Given the description of an element on the screen output the (x, y) to click on. 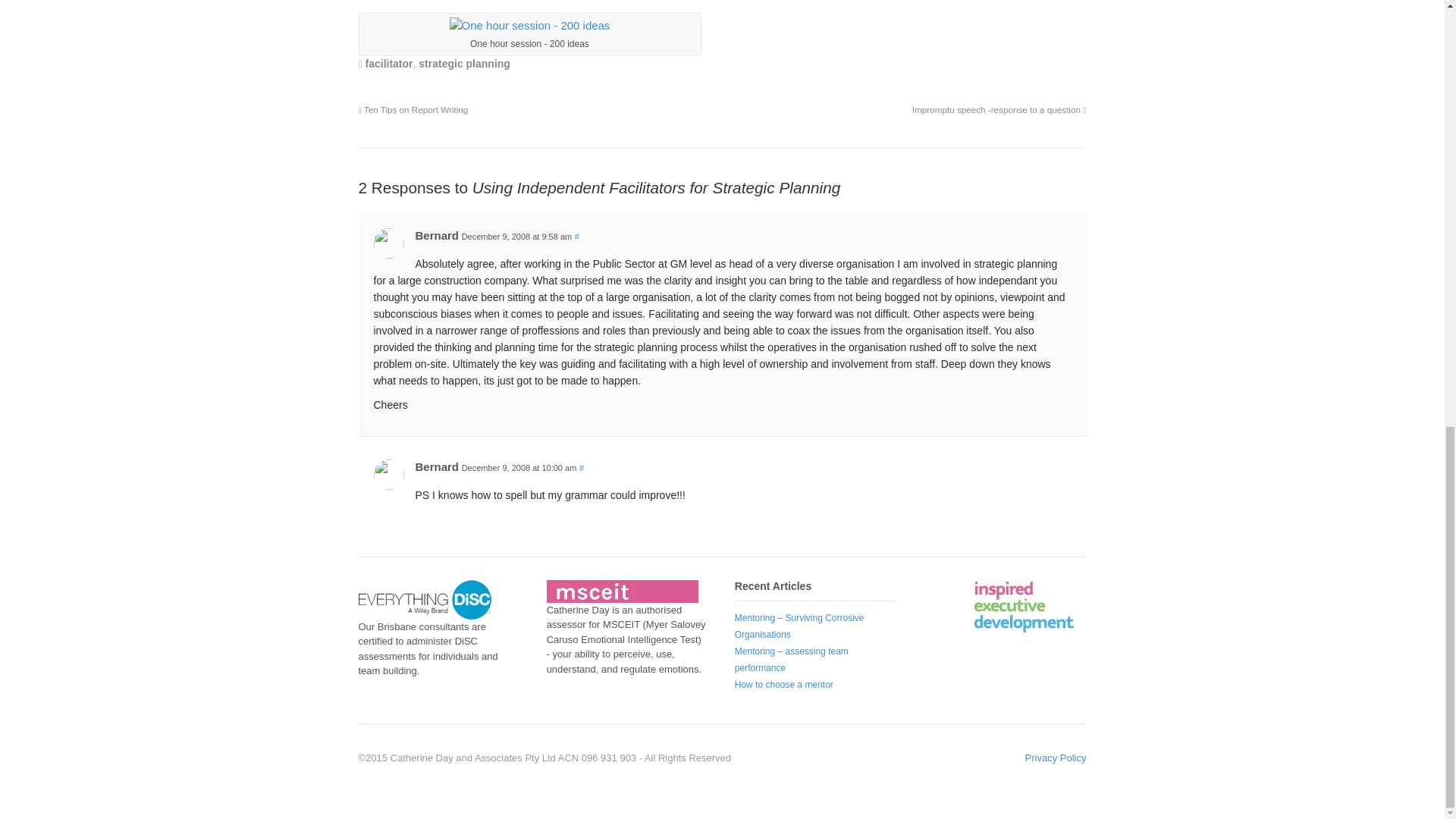
facilitator (389, 63)
Impromptu speech -response to a question (999, 109)
Ten Tips on Report Writing (412, 109)
Privacy Policy (1055, 757)
How to choose a mentor (783, 684)
creativity (529, 25)
strategic planning (465, 63)
